Given the description of an element on the screen output the (x, y) to click on. 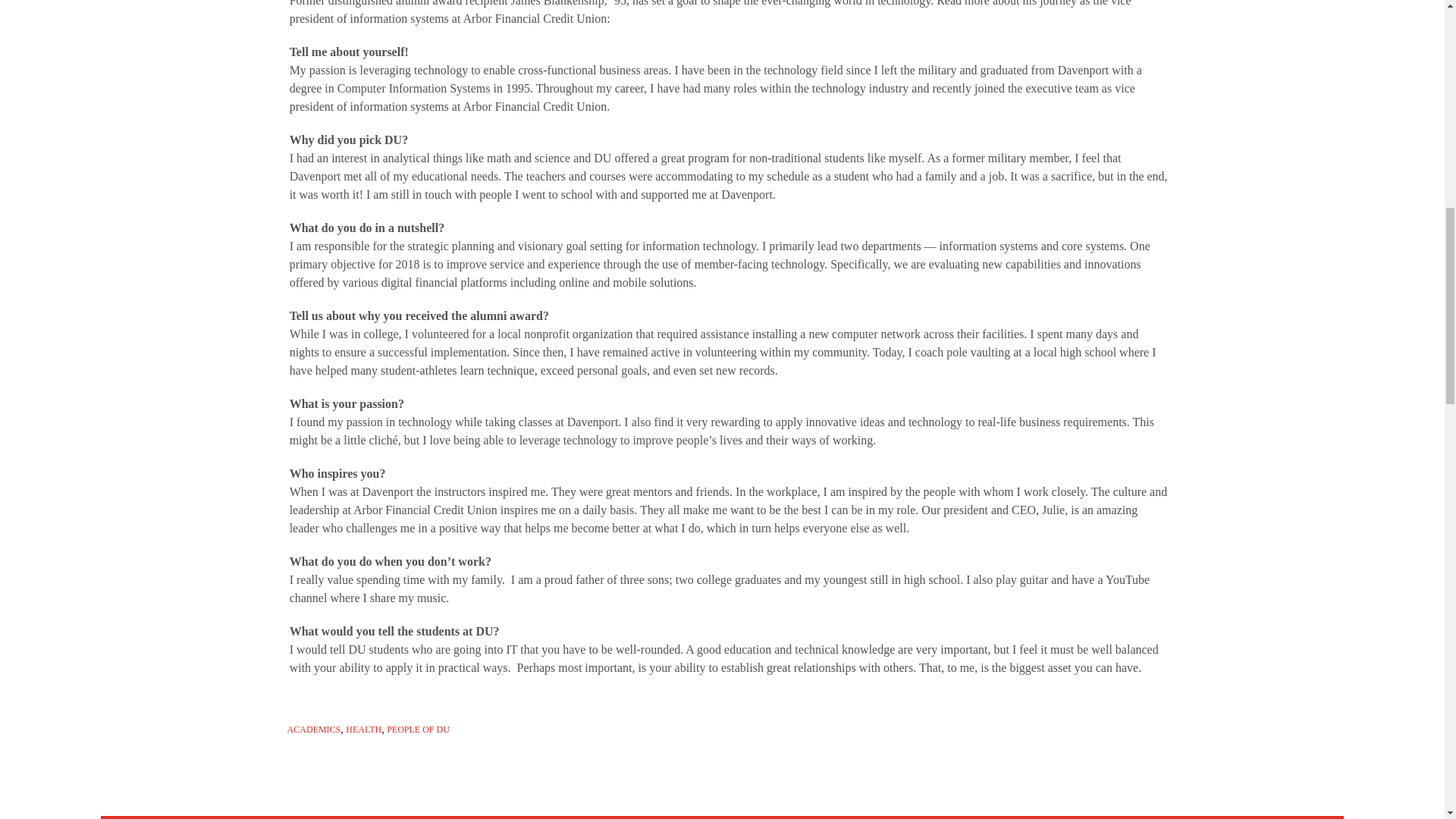
ACADEMICS (313, 729)
HEALTH (363, 729)
PEOPLE OF DU (418, 729)
